Given the description of an element on the screen output the (x, y) to click on. 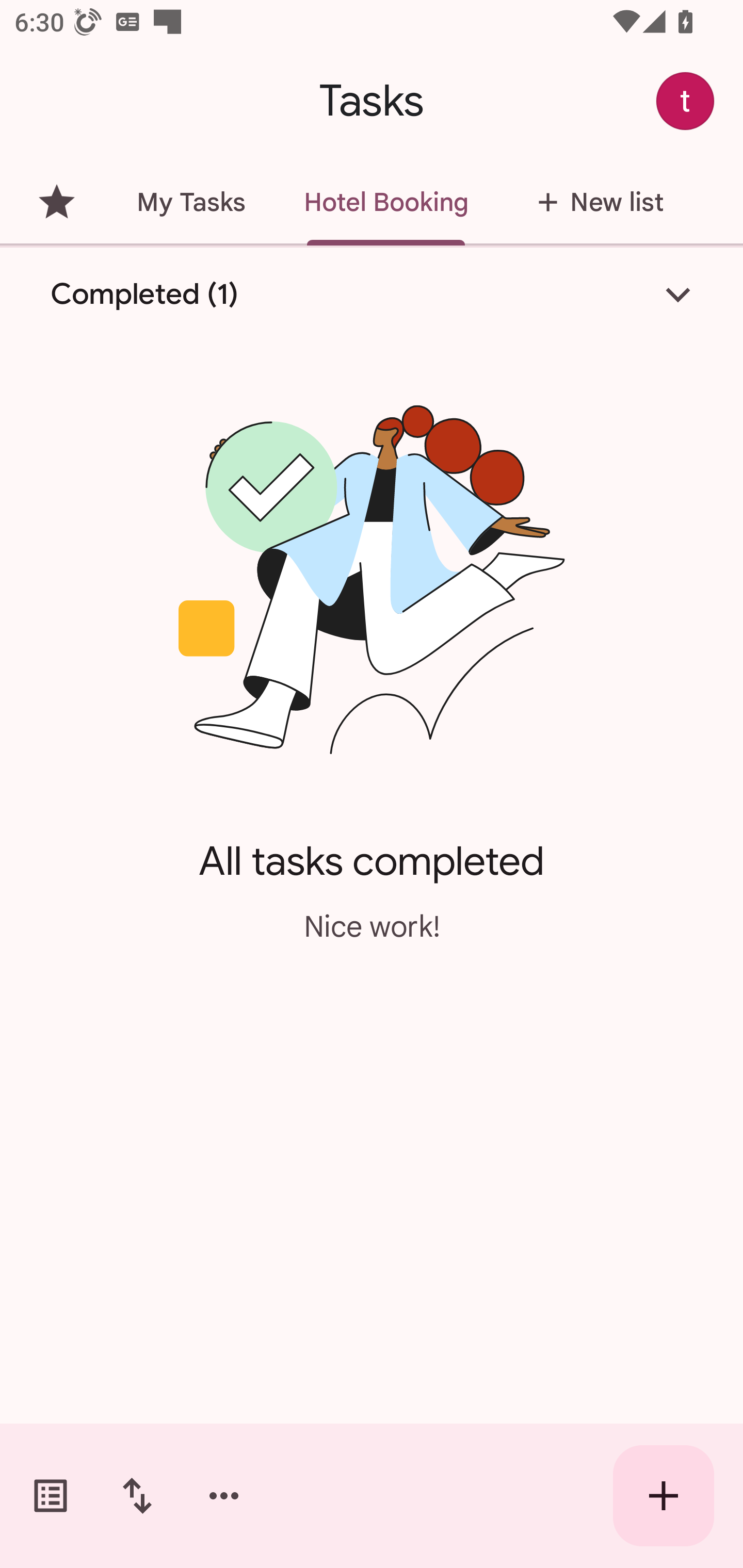
Starred (55, 202)
My Tasks (190, 202)
New list (594, 202)
Completed (1) (371, 294)
Switch task lists (50, 1495)
Create new task (663, 1495)
Change sort order (136, 1495)
More options (223, 1495)
